Given the description of an element on the screen output the (x, y) to click on. 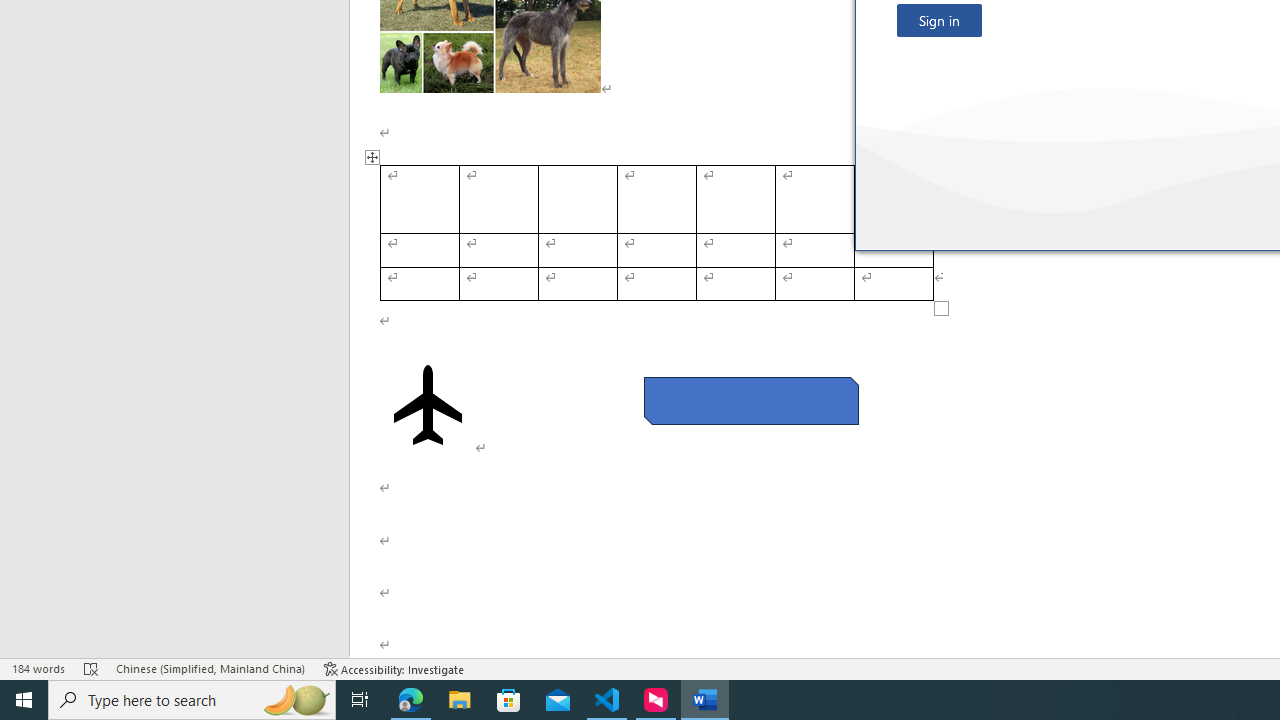
Word - 1 running window (704, 699)
